Given the description of an element on the screen output the (x, y) to click on. 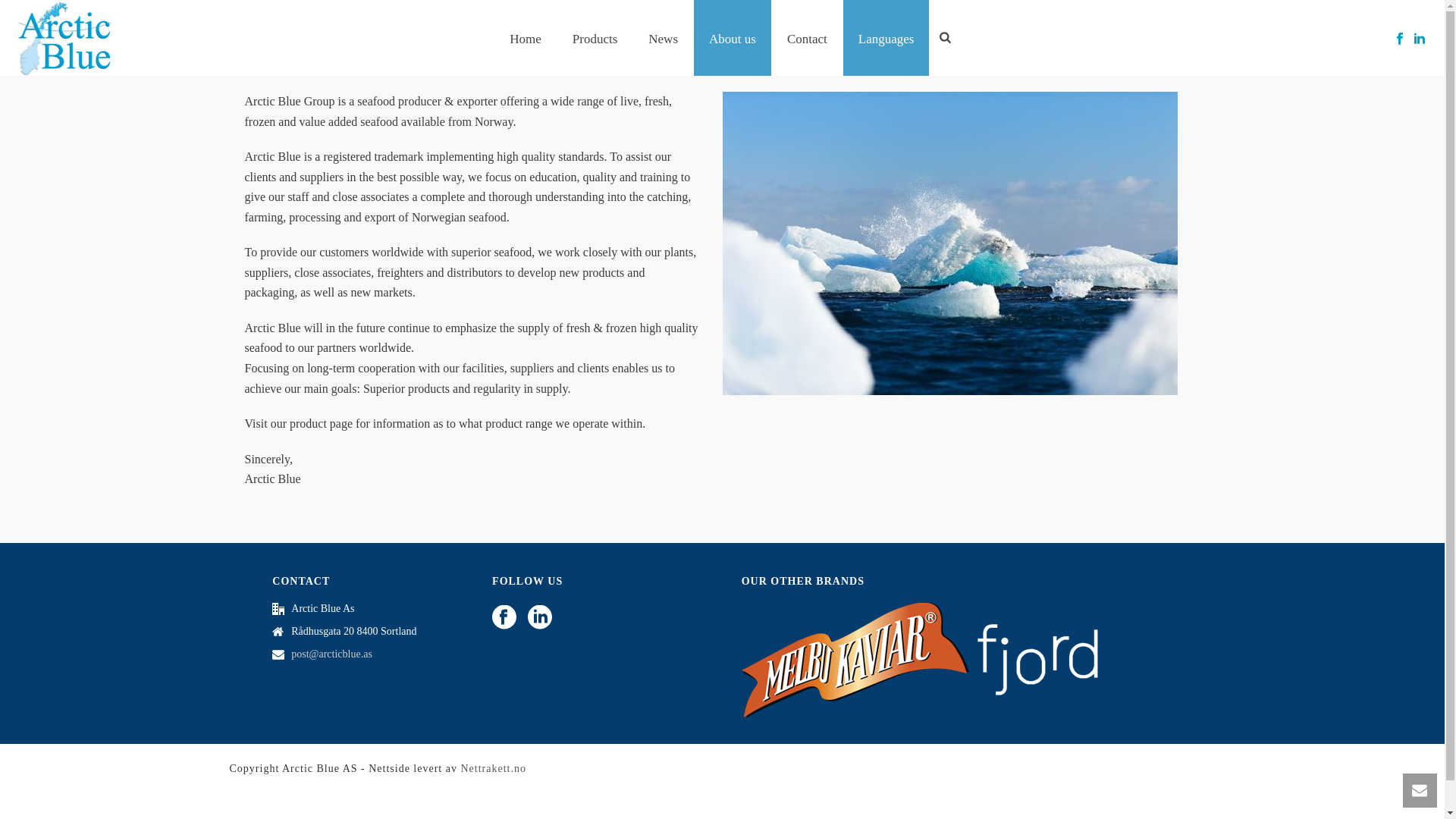
Products (595, 38)
About us (732, 38)
Products (595, 38)
Follow us linkedin (539, 618)
Languages (886, 38)
Purity is excellence (64, 38)
About us (732, 38)
Languages (886, 38)
Contact (807, 38)
Follow us facebook (504, 618)
